Given the description of an element on the screen output the (x, y) to click on. 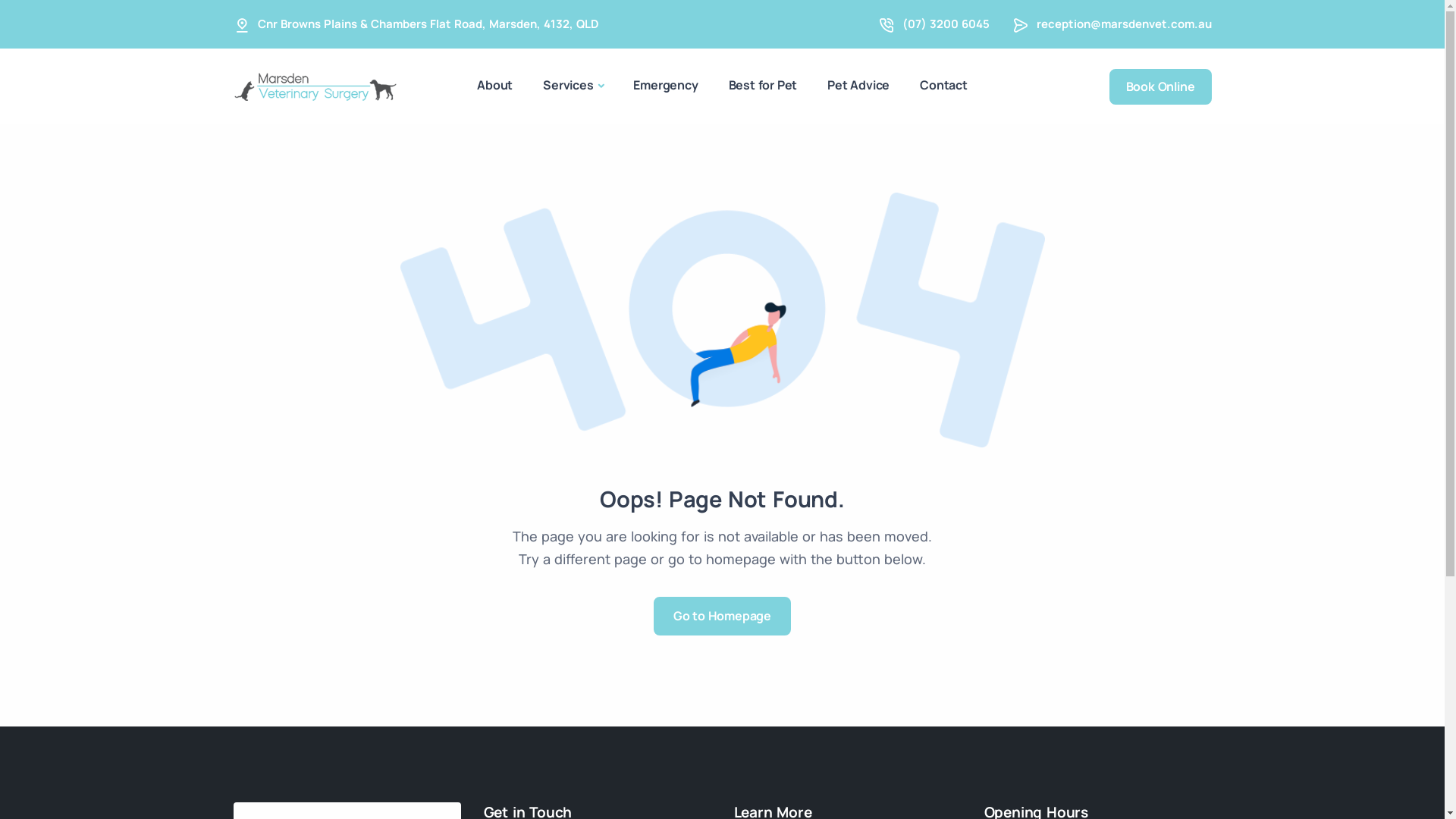
Contact Element type: text (943, 84)
Emergency Element type: text (665, 84)
About Element type: text (494, 84)
Pet Advice Element type: text (858, 84)
Go to Homepage Element type: text (721, 615)
Best for Pet Element type: text (762, 84)
Book Online Element type: text (1160, 86)
reception@marsdenvet.com.au Element type: text (1123, 23)
Services Element type: text (572, 86)
(07) 3200 6045 Element type: text (945, 23)
Cnr Browns Plains & Chambers Flat Road, Marsden, 4132, QLD Element type: text (428, 23)
